Given the description of an element on the screen output the (x, y) to click on. 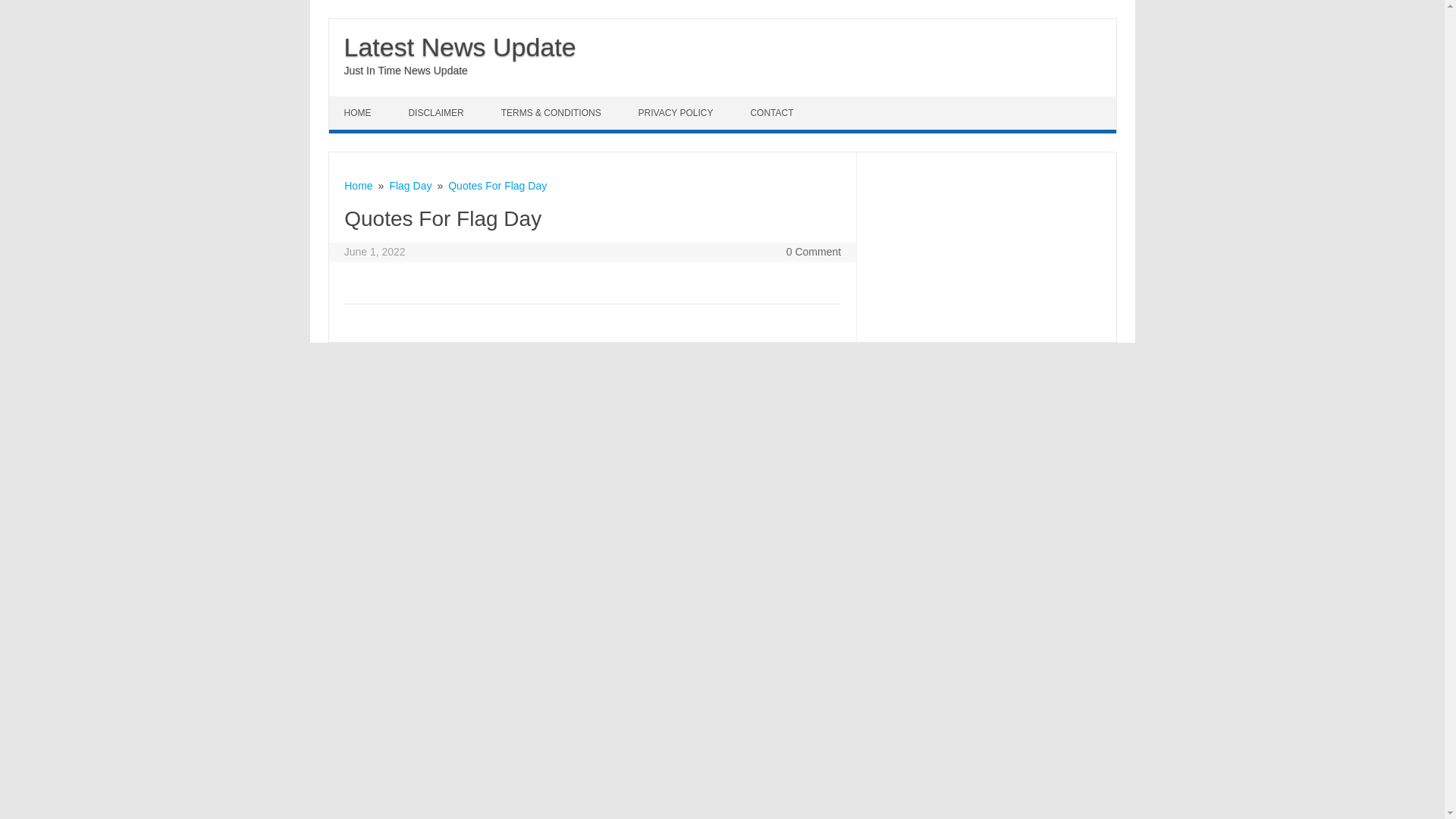
Home (357, 185)
Latest News Update (459, 46)
DISCLAIMER (437, 112)
Skip to content (363, 101)
0 Comment (813, 251)
PRIVACY POLICY (677, 112)
Skip to content (363, 101)
CONTACT (773, 112)
Flag Day (409, 185)
Latest News Update (459, 46)
HOME (359, 112)
Quotes For Flag Day (497, 185)
Just In Time News Update (405, 70)
